Given the description of an element on the screen output the (x, y) to click on. 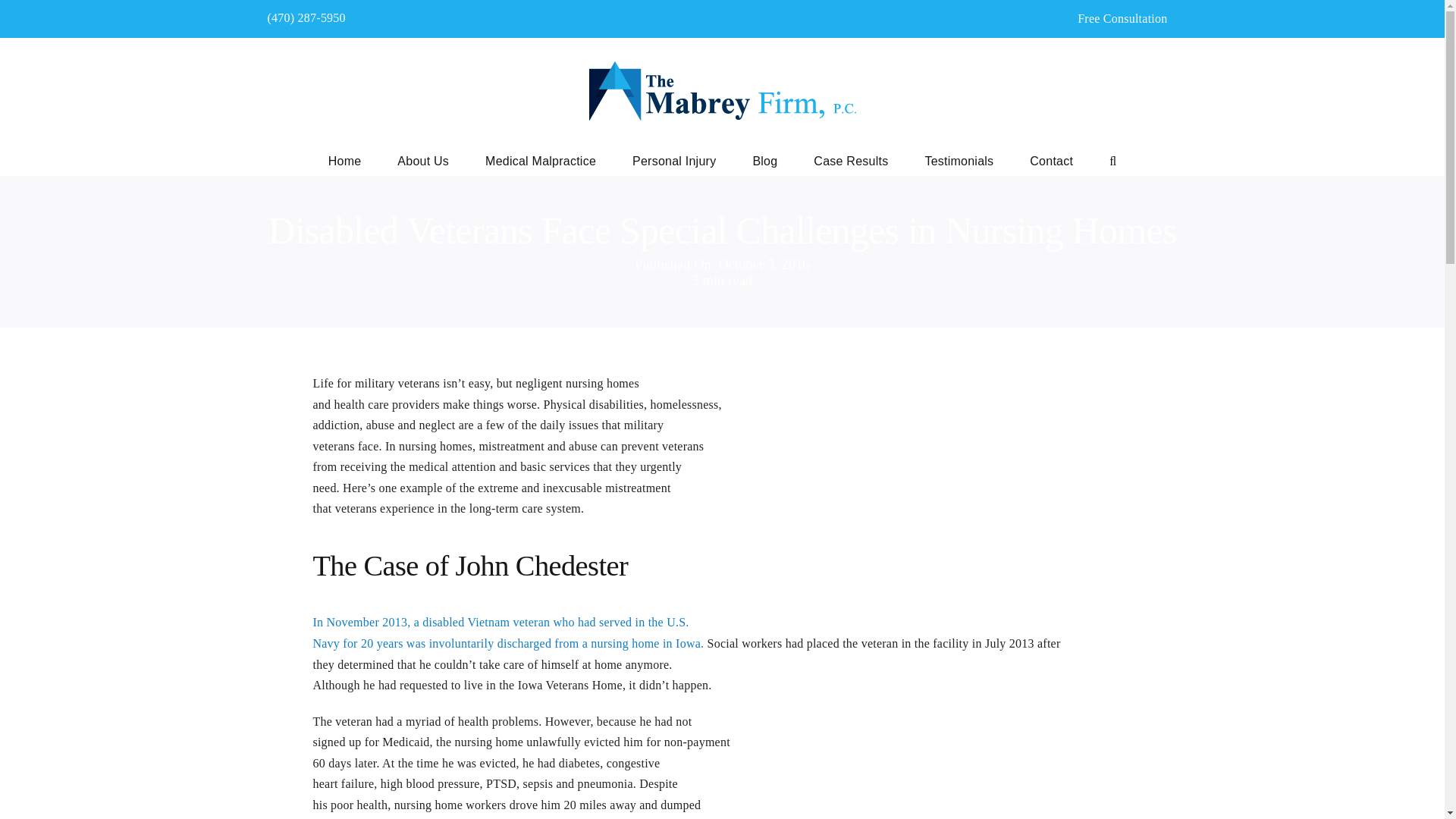
Medical Malpractice (539, 159)
Home (345, 159)
Contact (1051, 159)
Personal Injury (673, 159)
Free Consultation (1121, 18)
Case Results (850, 159)
About Us (422, 159)
Testimonials (958, 159)
